Given the description of an element on the screen output the (x, y) to click on. 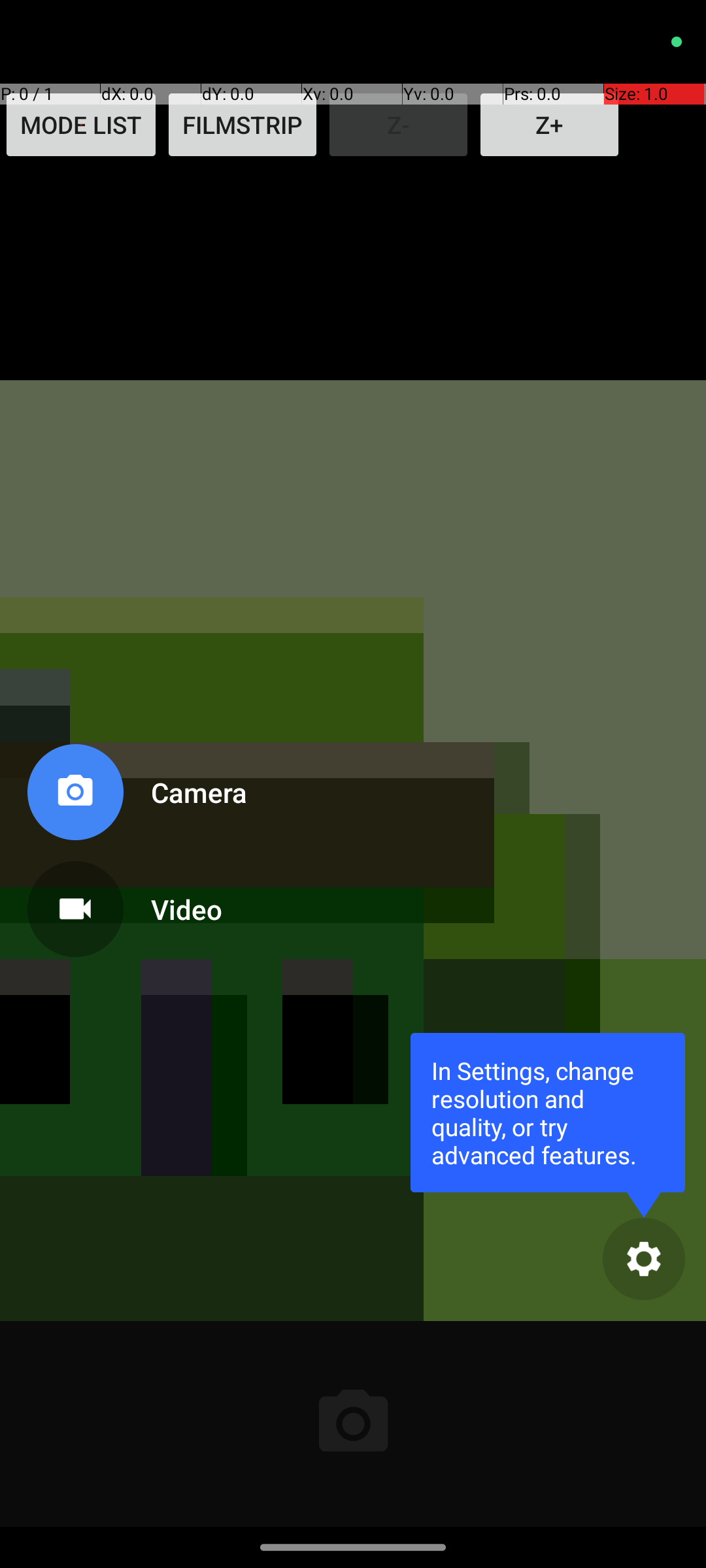
Switch to Camera Mode Element type: android.widget.FrameLayout (134, 797)
Switch to Video Camera Element type: android.widget.FrameLayout (134, 903)
In Settings, change resolution and quality, or try advanced features. Element type: android.widget.TextView (547, 1112)
